Given the description of an element on the screen output the (x, y) to click on. 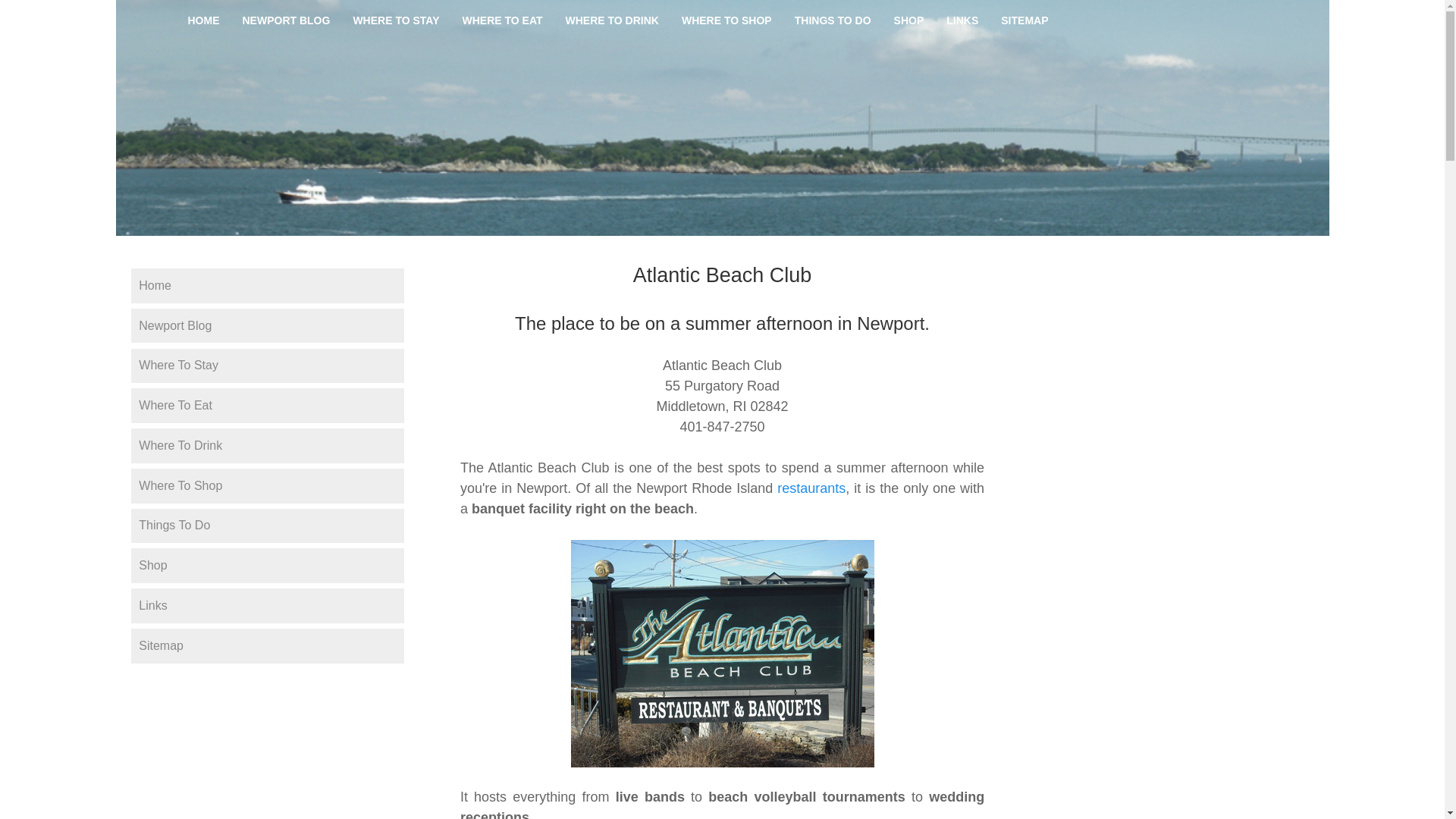
NEWPORT BLOG (285, 20)
Where To Eat (267, 405)
WHERE TO SHOP (726, 20)
Where To Shop (267, 485)
WHERE TO STAY (394, 20)
Where To Stay (267, 366)
WHERE TO DRINK (611, 20)
SITEMAP (1024, 20)
HOME (203, 20)
Newport Blog (267, 325)
